Given the description of an element on the screen output the (x, y) to click on. 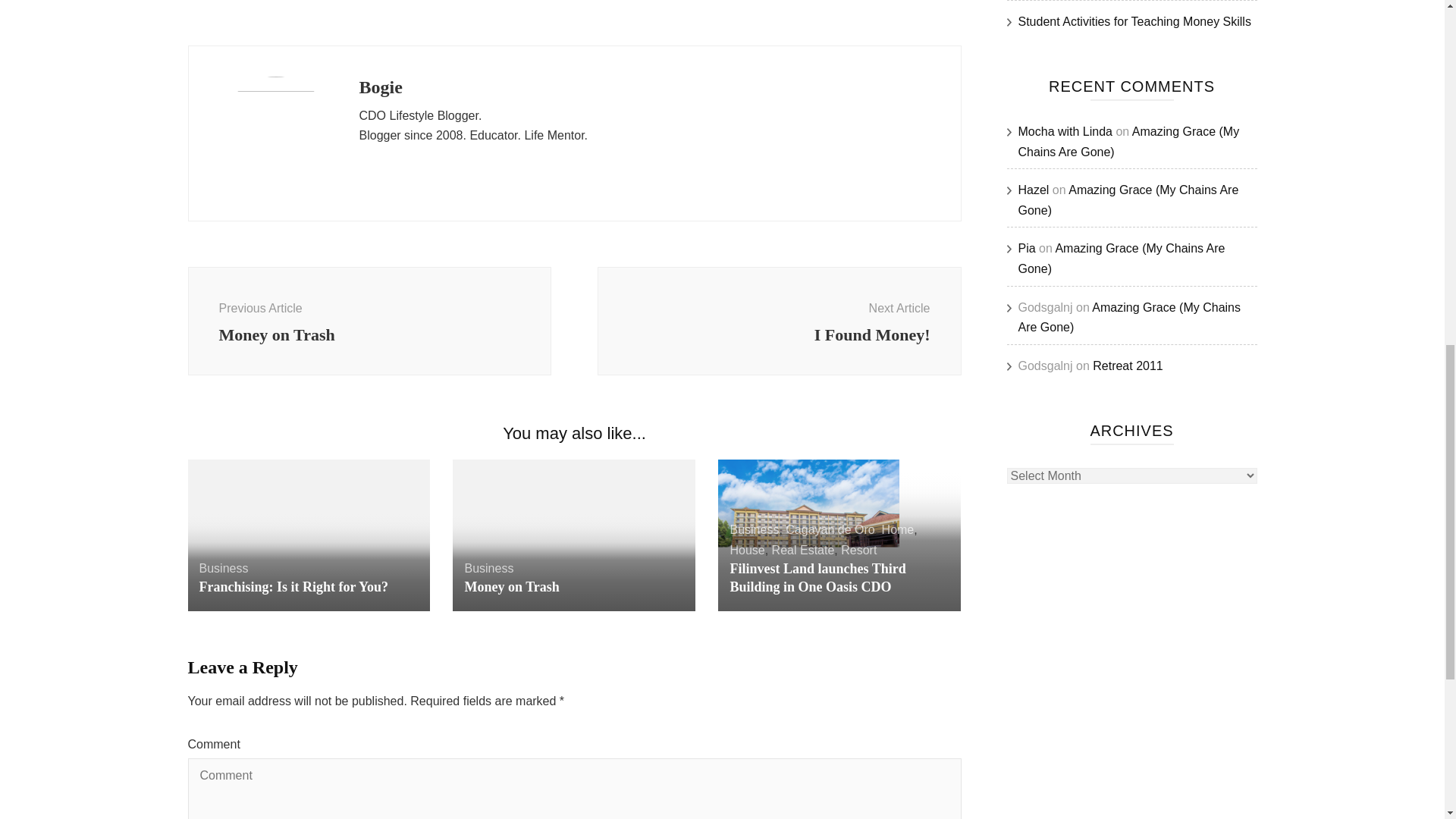
Business (753, 529)
Cagayan de Oro (369, 320)
Resort (830, 529)
Filinvest Land launches Third Building in One Oasis CDO (858, 549)
Real Estate (778, 320)
Money on Trash (817, 577)
Home (802, 549)
Franchising: Is it Right for You? (511, 586)
